Given the description of an element on the screen output the (x, y) to click on. 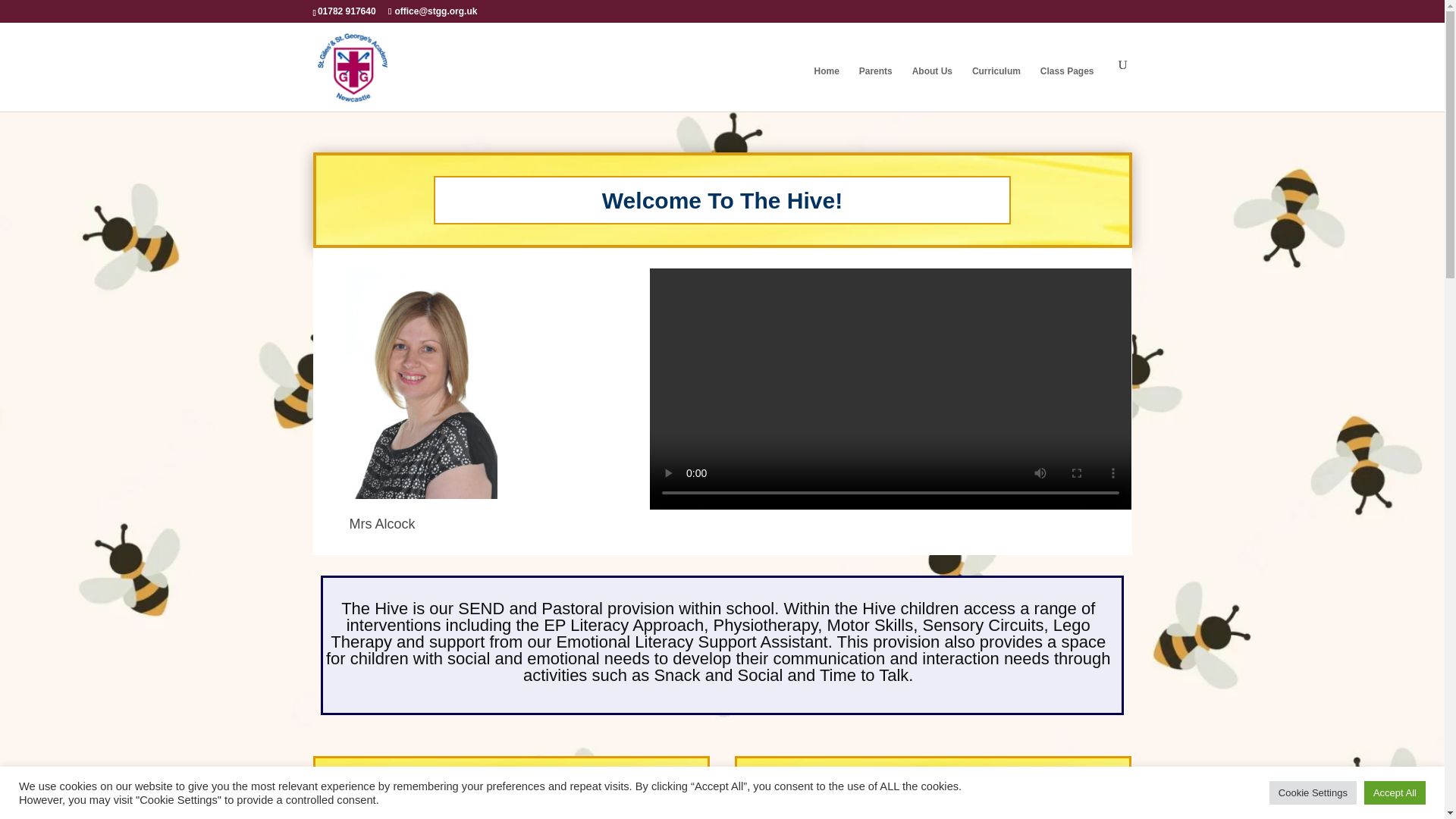
About Us (931, 84)
Curriculum (995, 84)
Parents (875, 84)
